Given the description of an element on the screen output the (x, y) to click on. 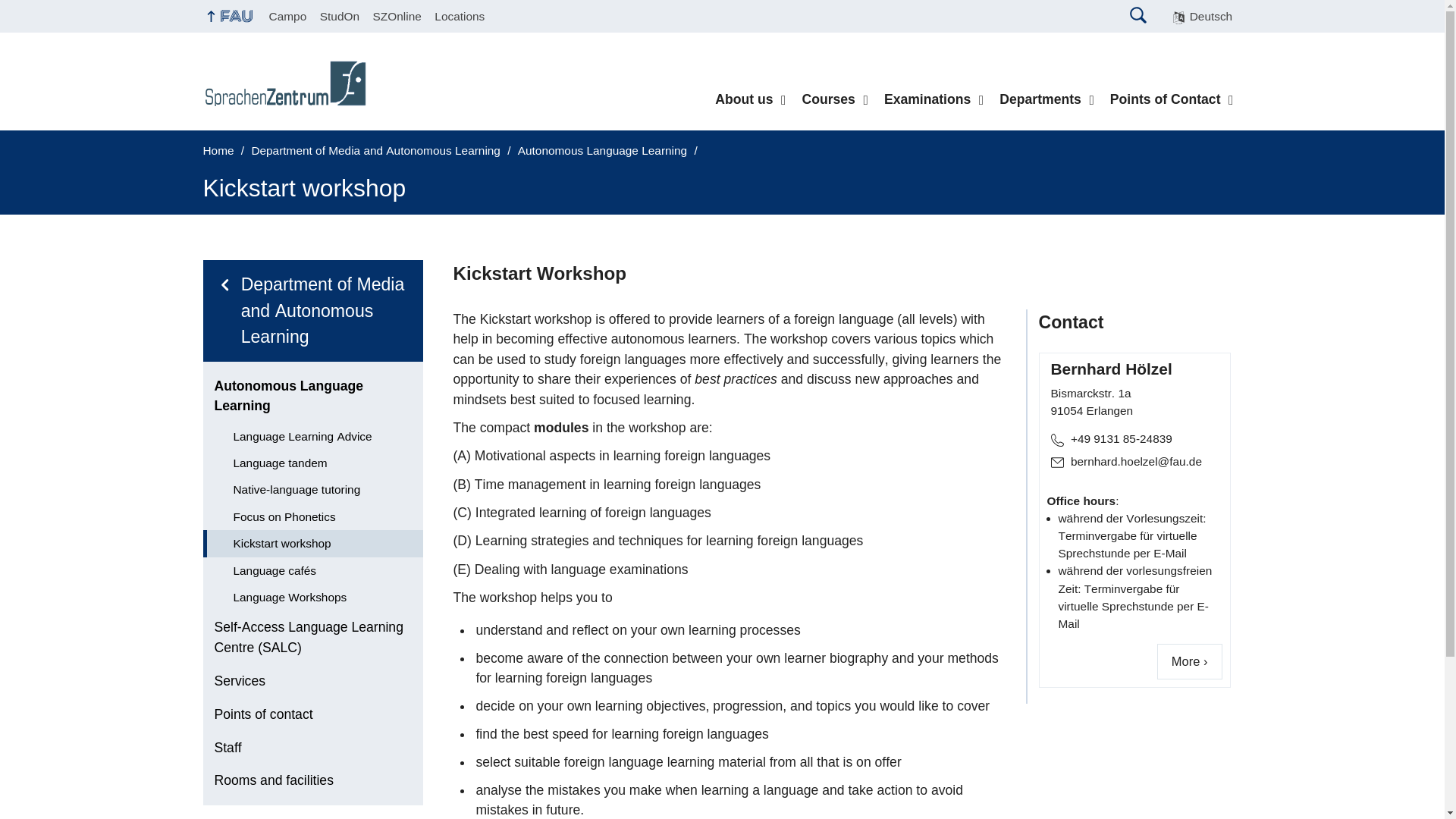
Campo (288, 16)
SZOnline (397, 16)
Examinations (933, 99)
StudOn (339, 16)
Deutsch (1202, 16)
About us (750, 99)
Courses (834, 99)
Locations (458, 16)
